Given the description of an element on the screen output the (x, y) to click on. 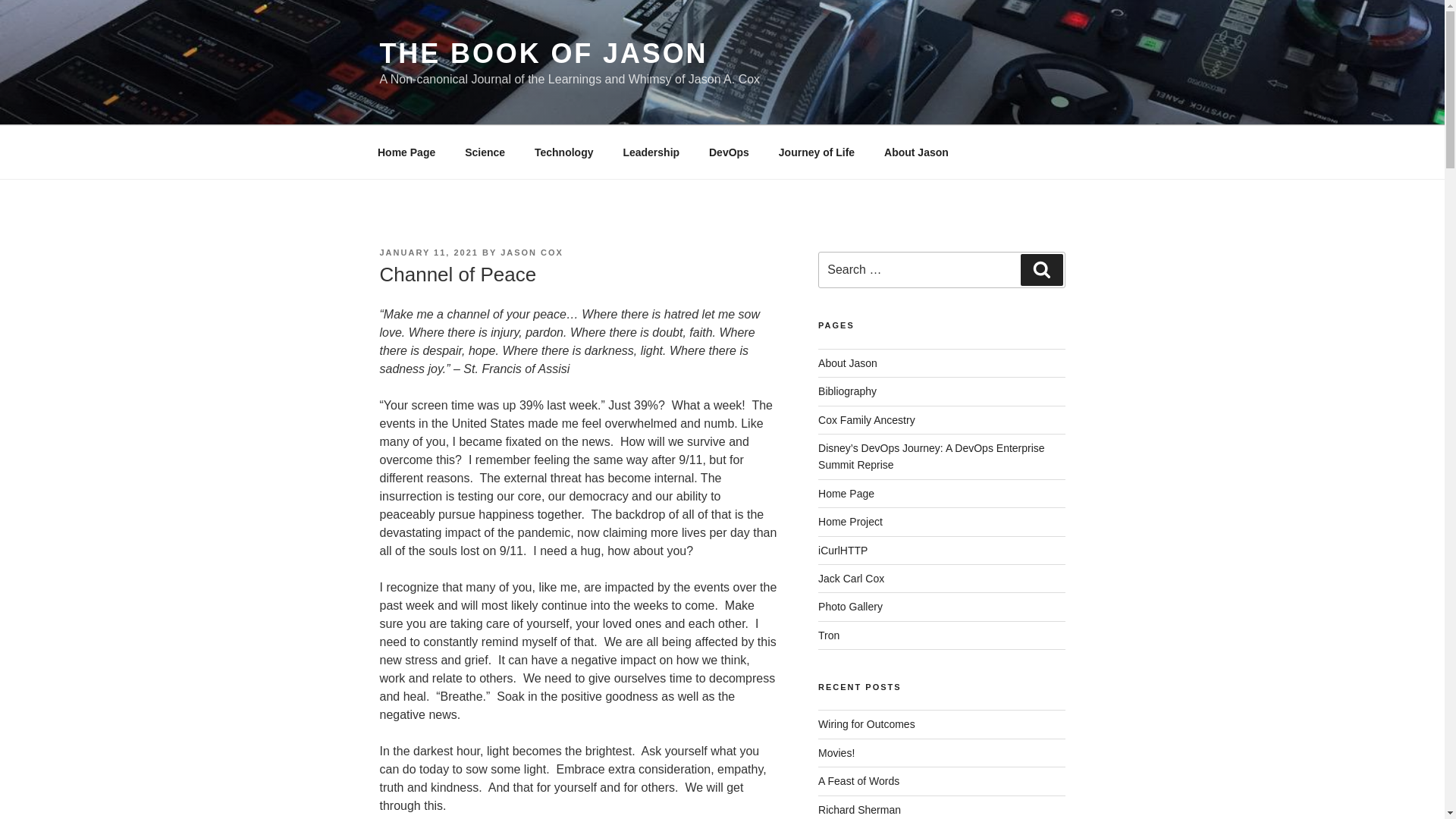
Movies! (836, 752)
Wiring for Outcomes (866, 724)
Search (1041, 269)
Home Project (850, 521)
A Feast of Words (858, 780)
Home Page (846, 493)
THE BOOK OF JASON (542, 52)
JASON COX (531, 252)
Tron (829, 635)
About Jason (916, 151)
About Jason (847, 363)
Jack Carl Cox (850, 578)
Photo Gallery (850, 606)
Home Page (406, 151)
Science (484, 151)
